Given the description of an element on the screen output the (x, y) to click on. 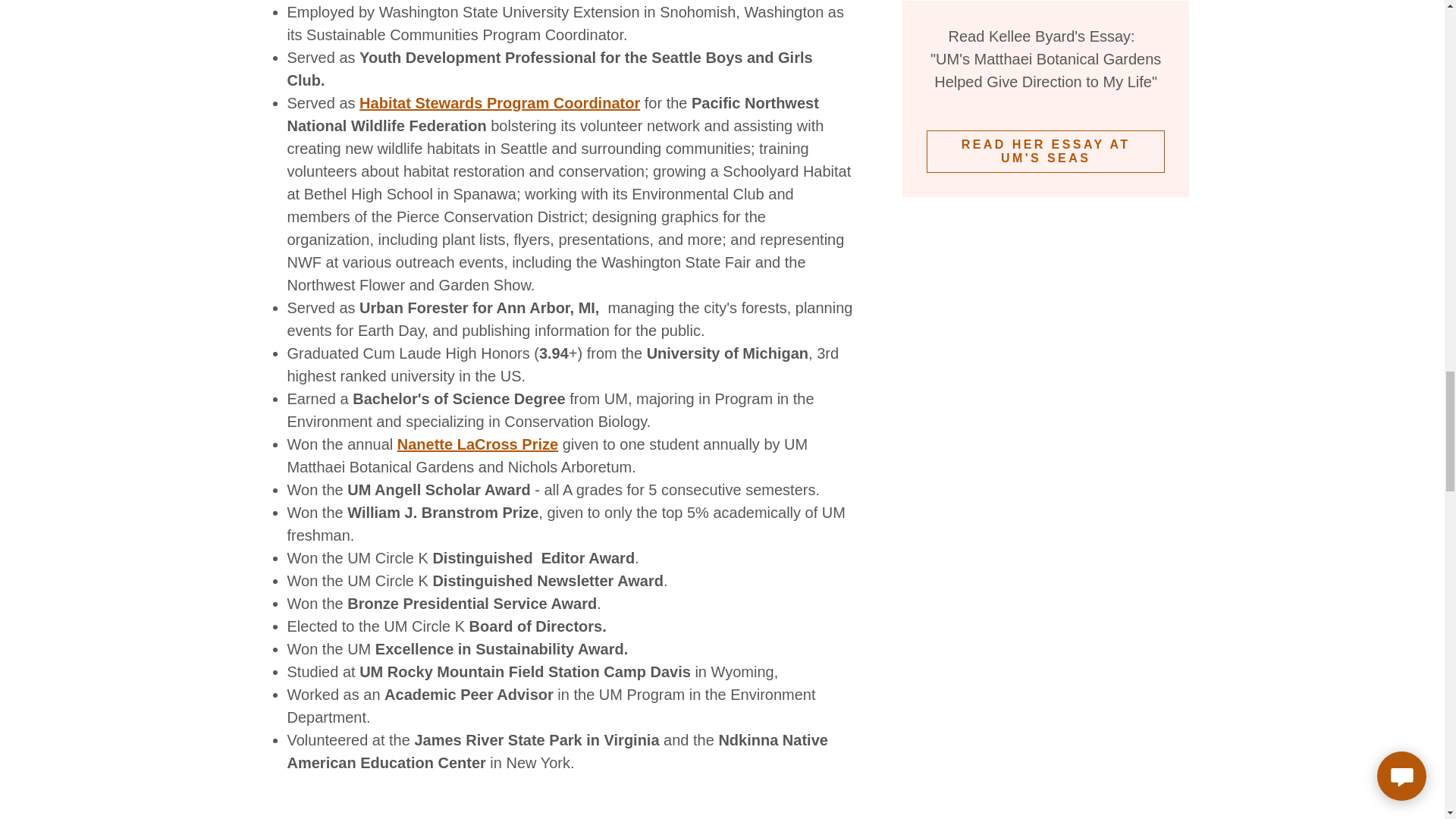
Habitat Stewards Program Coordinator (499, 103)
Nanette LaCross Prize (477, 443)
READ HER ESSAY AT UM'S SEAS (1046, 151)
